Given the description of an element on the screen output the (x, y) to click on. 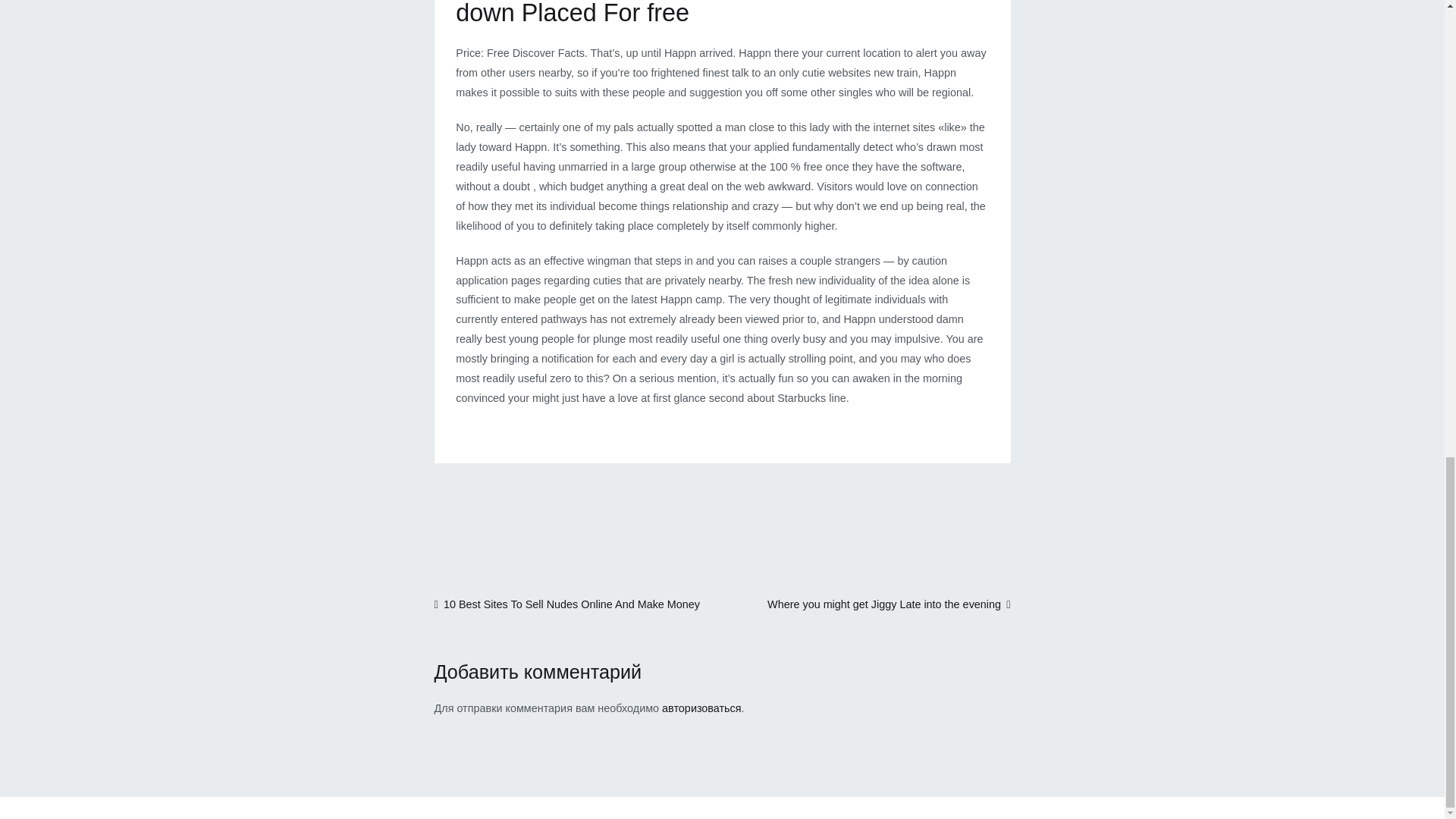
Where you might get Jiggy Late into the evening (888, 604)
10 Best Sites To Sell Nudes Online And Make Money (566, 604)
